Given the description of an element on the screen output the (x, y) to click on. 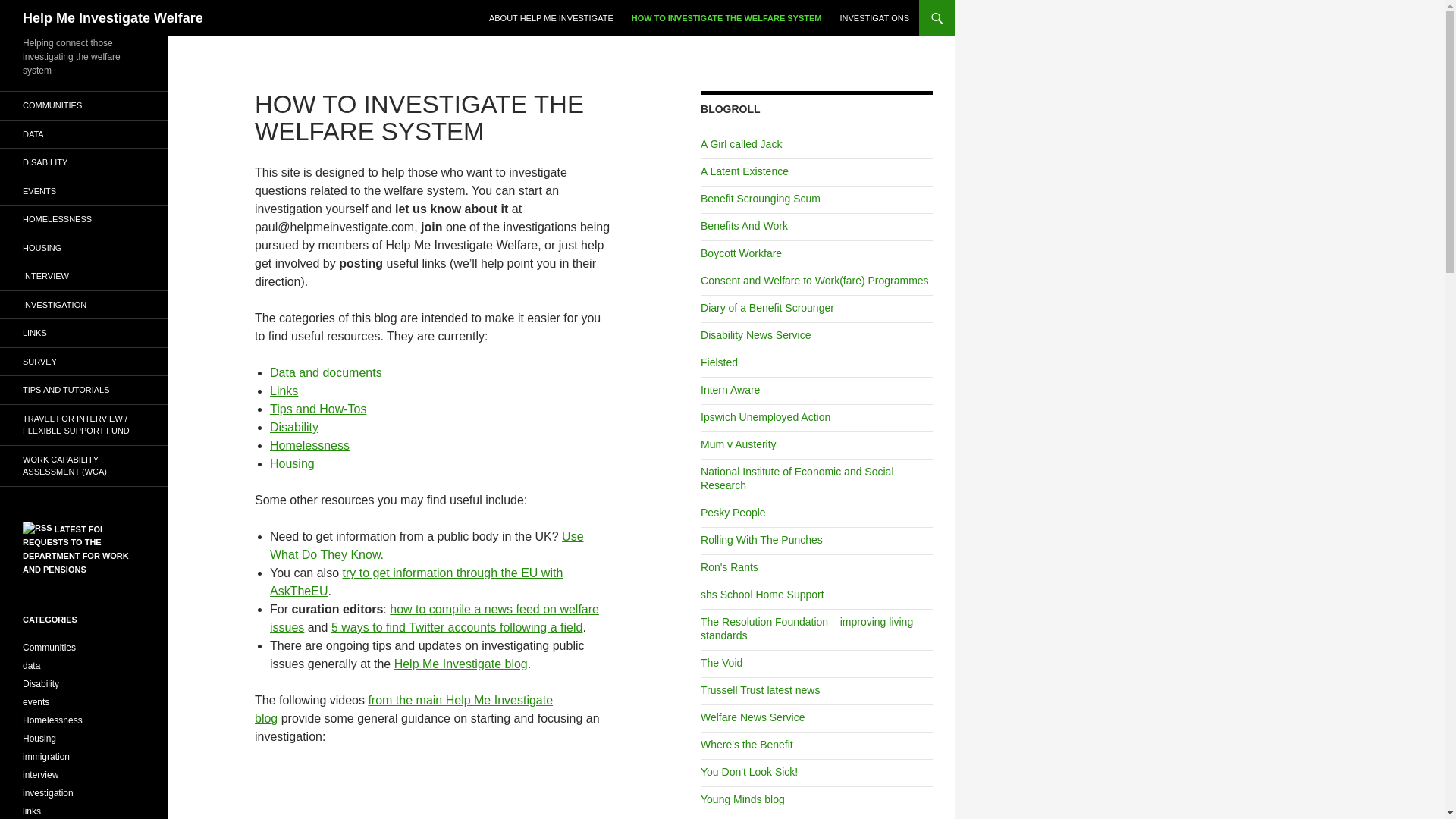
Tips and How-Tos (317, 408)
Tips and help on investigating welfare (317, 408)
Help me investigate disability (293, 427)
Homelessness (309, 445)
Intern Aware (730, 389)
Housing (291, 463)
Use What Do They Know. (426, 545)
Diary of a Benefit Scrounger (767, 307)
HOW TO INVESTIGATE THE WELFARE SYSTEM (727, 18)
Benefits And Work (743, 225)
Links (283, 390)
Mum v Austerity (738, 444)
